Given the description of an element on the screen output the (x, y) to click on. 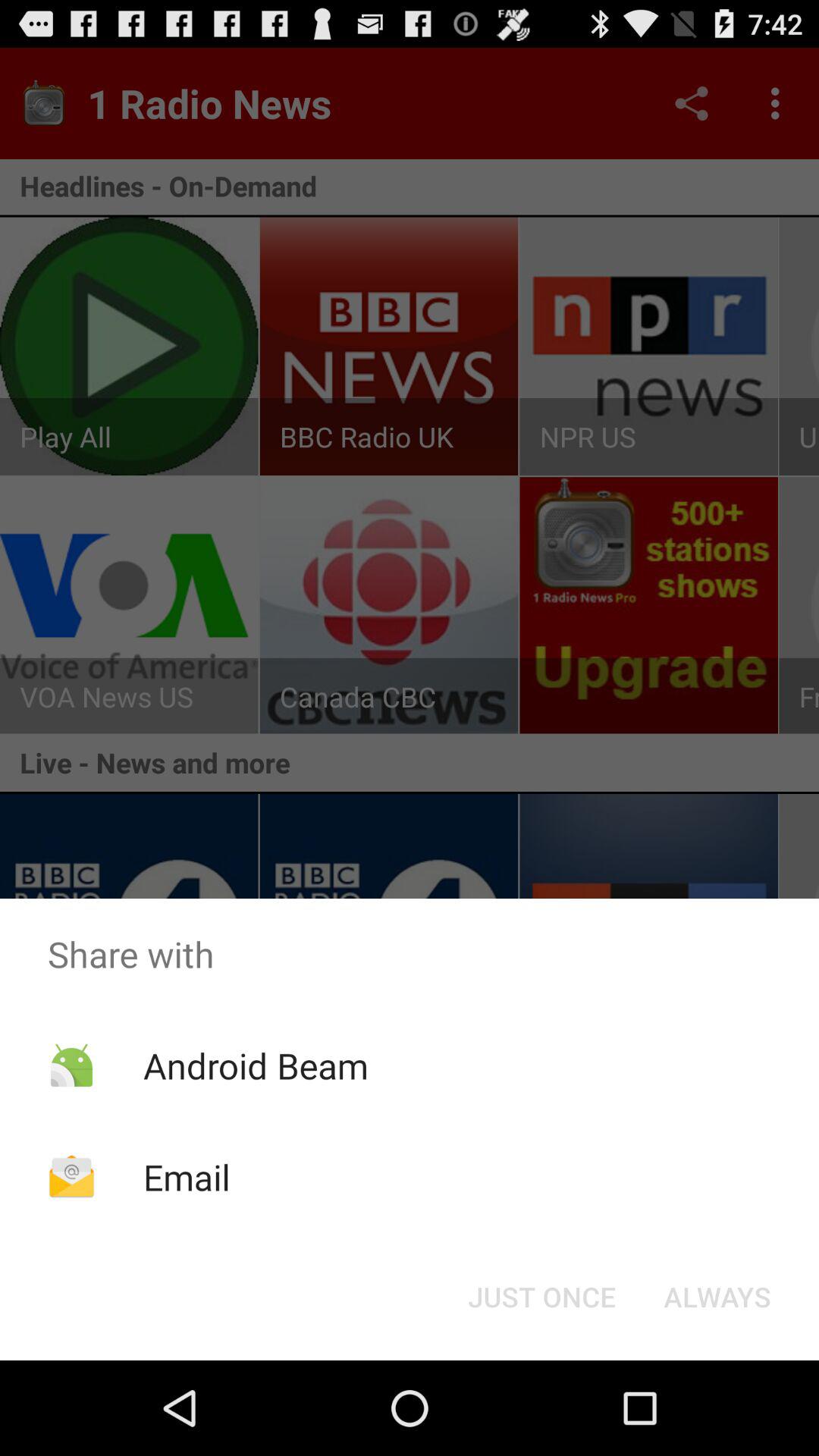
jump to just once item (541, 1296)
